Given the description of an element on the screen output the (x, y) to click on. 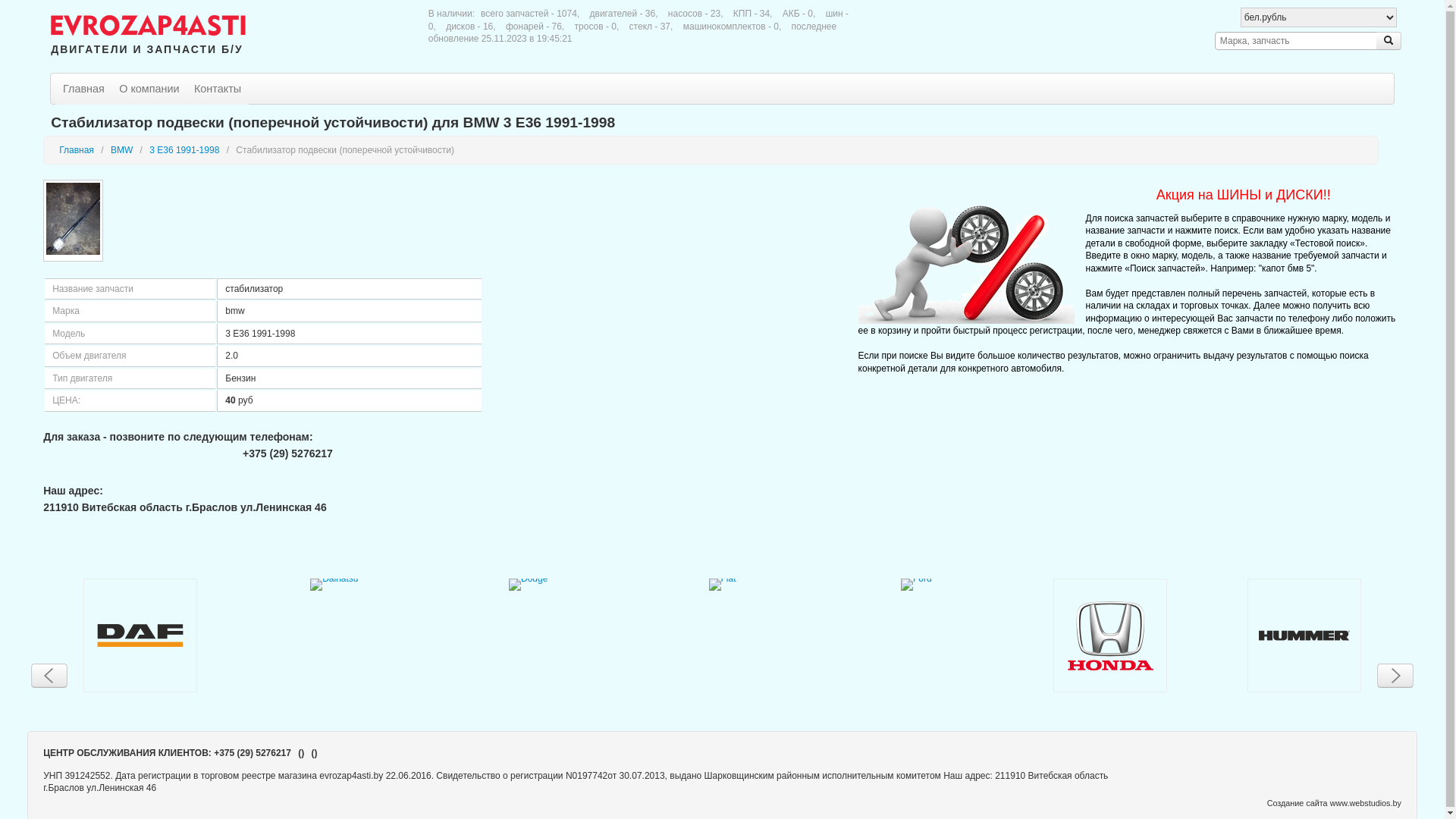
BMW Element type: text (121, 149)
3 E36 1991-1998 Element type: text (184, 149)
www.webstudios.by Element type: text (1365, 801)
evrozap4asti.by Element type: hover (147, 22)
